Given the description of an element on the screen output the (x, y) to click on. 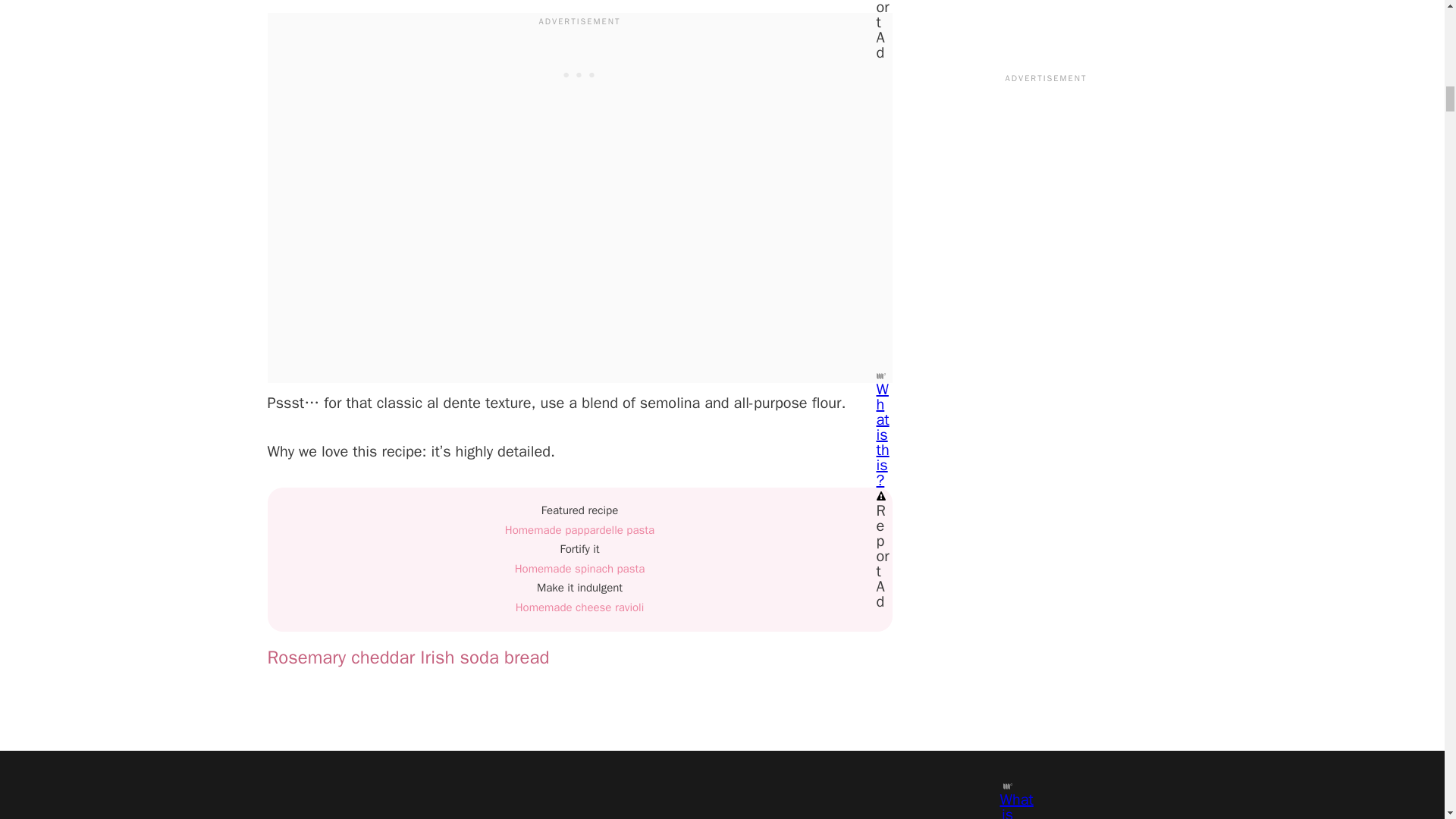
Homemade pappardelle pasta (579, 530)
3rd party ad content (579, 73)
Homemade spinach pasta (580, 568)
Homemade cheese ravioli (580, 607)
